Given the description of an element on the screen output the (x, y) to click on. 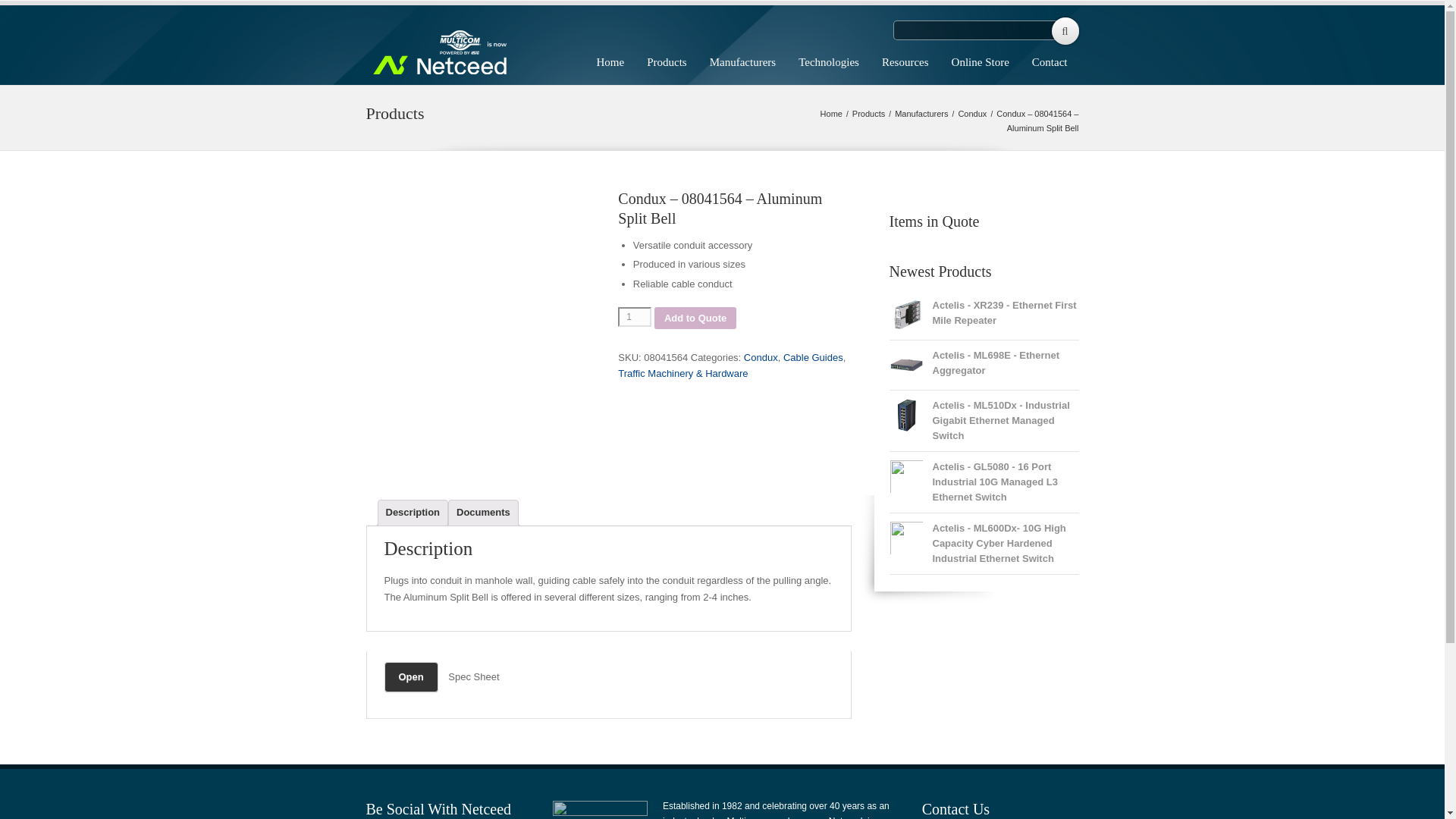
Resources (905, 62)
1 (633, 316)
Manufacturers (742, 62)
Condux (972, 112)
Home (610, 62)
Manufacturers (921, 112)
Products (666, 62)
Technologies (828, 62)
Search on site... (985, 30)
Qty (633, 316)
